Given the description of an element on the screen output the (x, y) to click on. 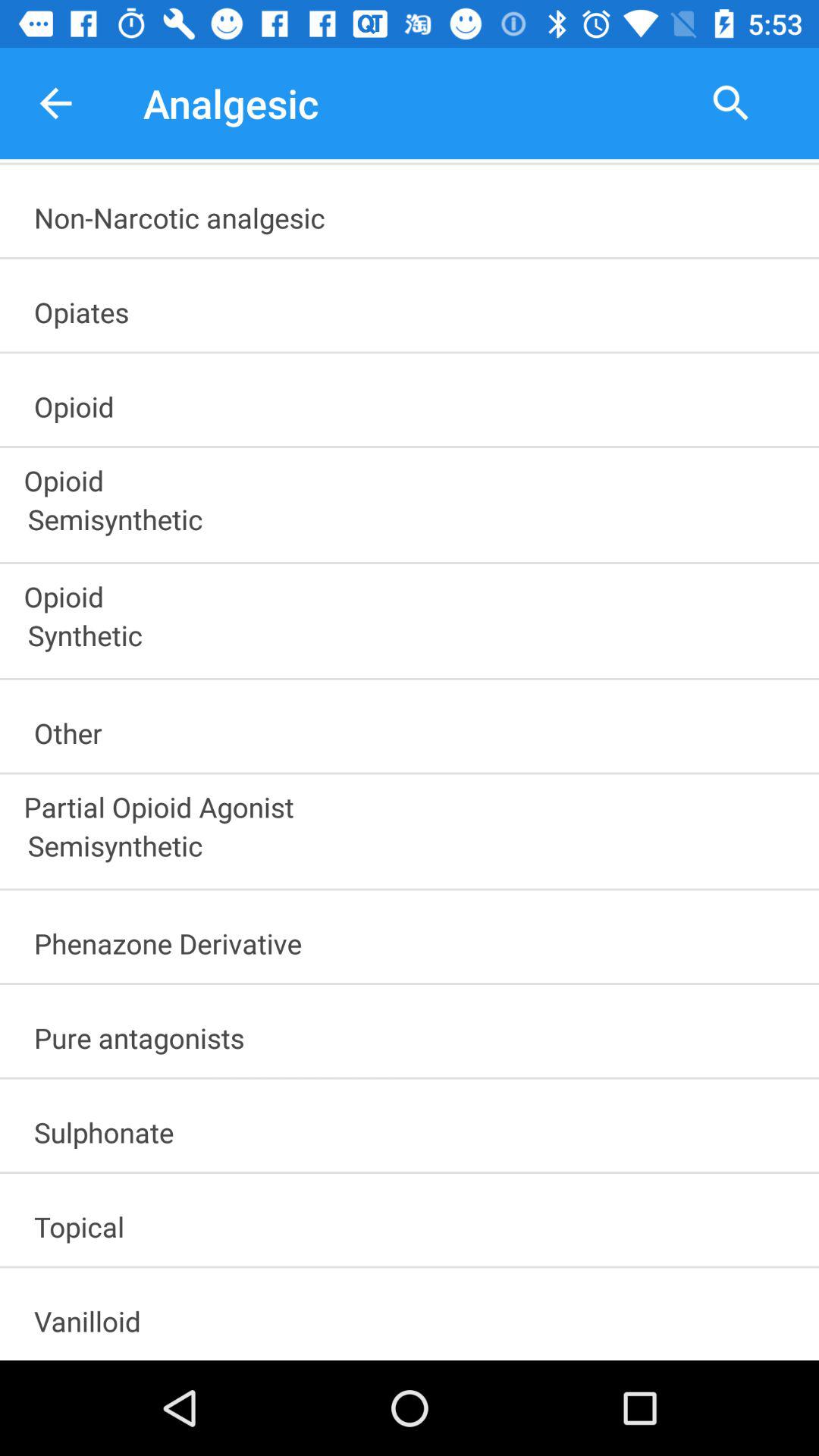
flip until opiates item (416, 307)
